Given the description of an element on the screen output the (x, y) to click on. 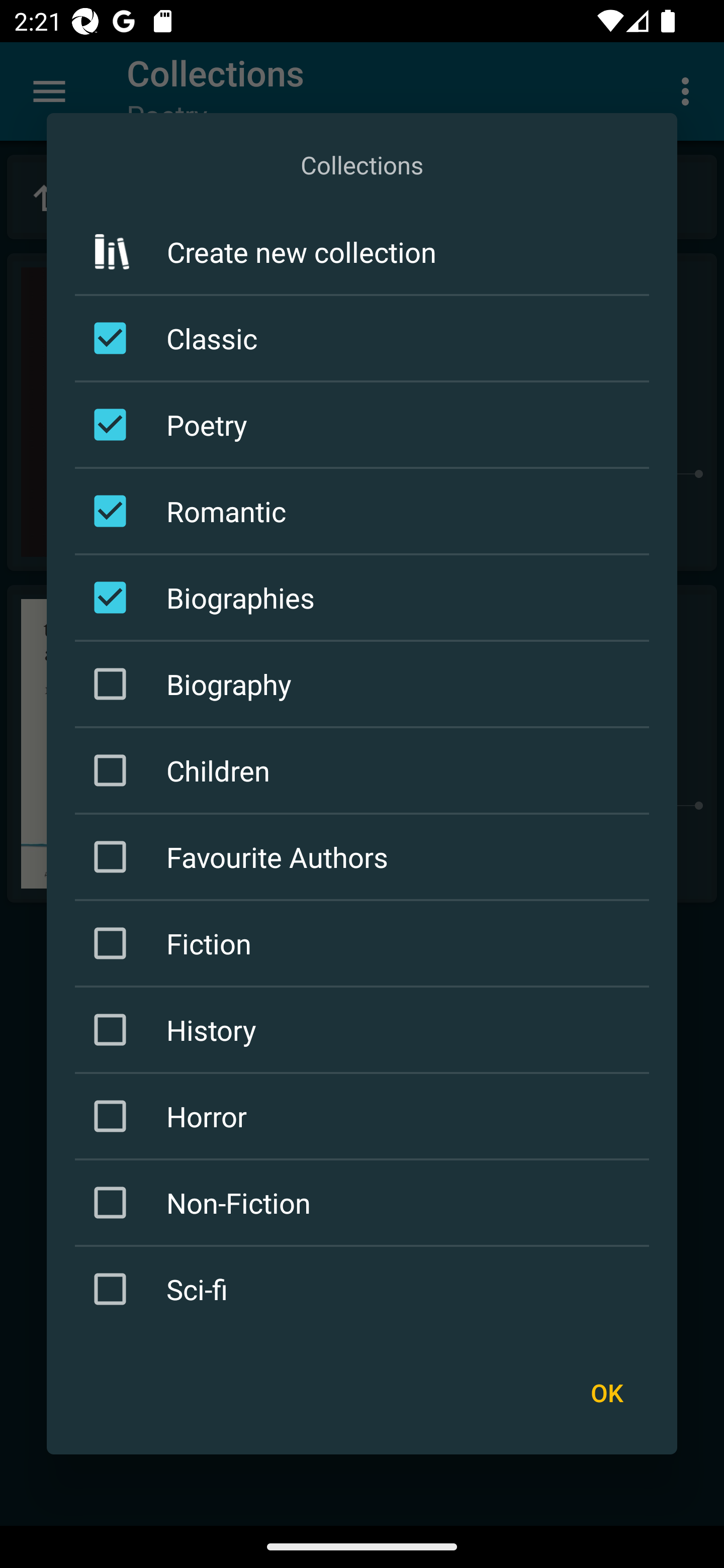
Create new collection (361, 252)
Classic (365, 338)
Poetry (365, 424)
Romantic (365, 510)
Biographies (365, 597)
Biography (365, 683)
Children (365, 769)
Favourite Authors (365, 856)
Fiction (365, 943)
History (365, 1029)
Horror (365, 1116)
Non-Fiction (365, 1202)
Sci-fi (365, 1288)
OK (606, 1392)
